Given the description of an element on the screen output the (x, y) to click on. 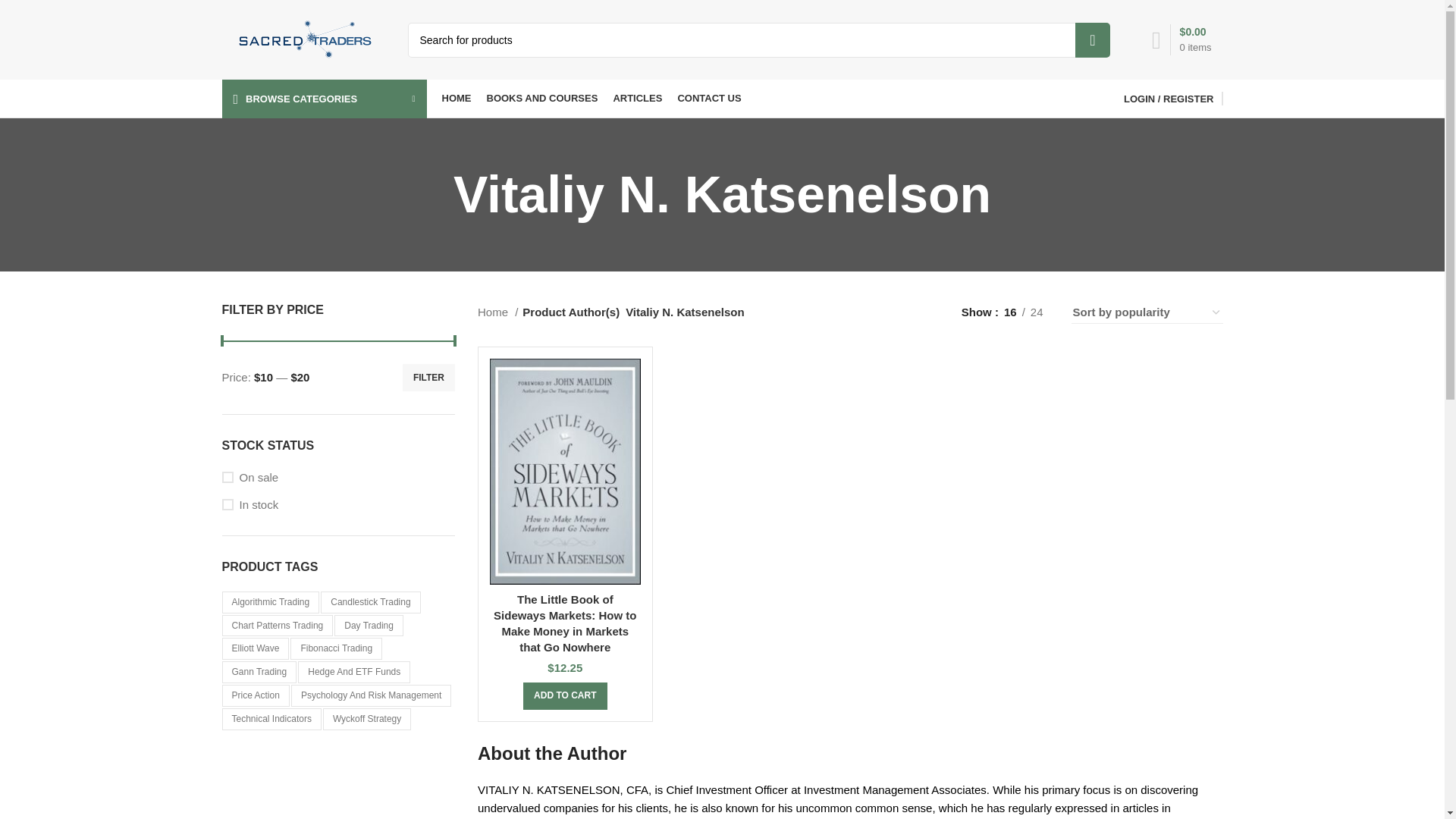
Algorithmic Trading (269, 602)
Home (497, 312)
Search for products (758, 39)
In stock (337, 504)
Candlestick Trading (370, 602)
HOME (455, 98)
CONTACT US (709, 98)
Technical Indicators (270, 719)
Psychology And Risk Management (371, 695)
Shopping cart (1182, 39)
